Given the description of an element on the screen output the (x, y) to click on. 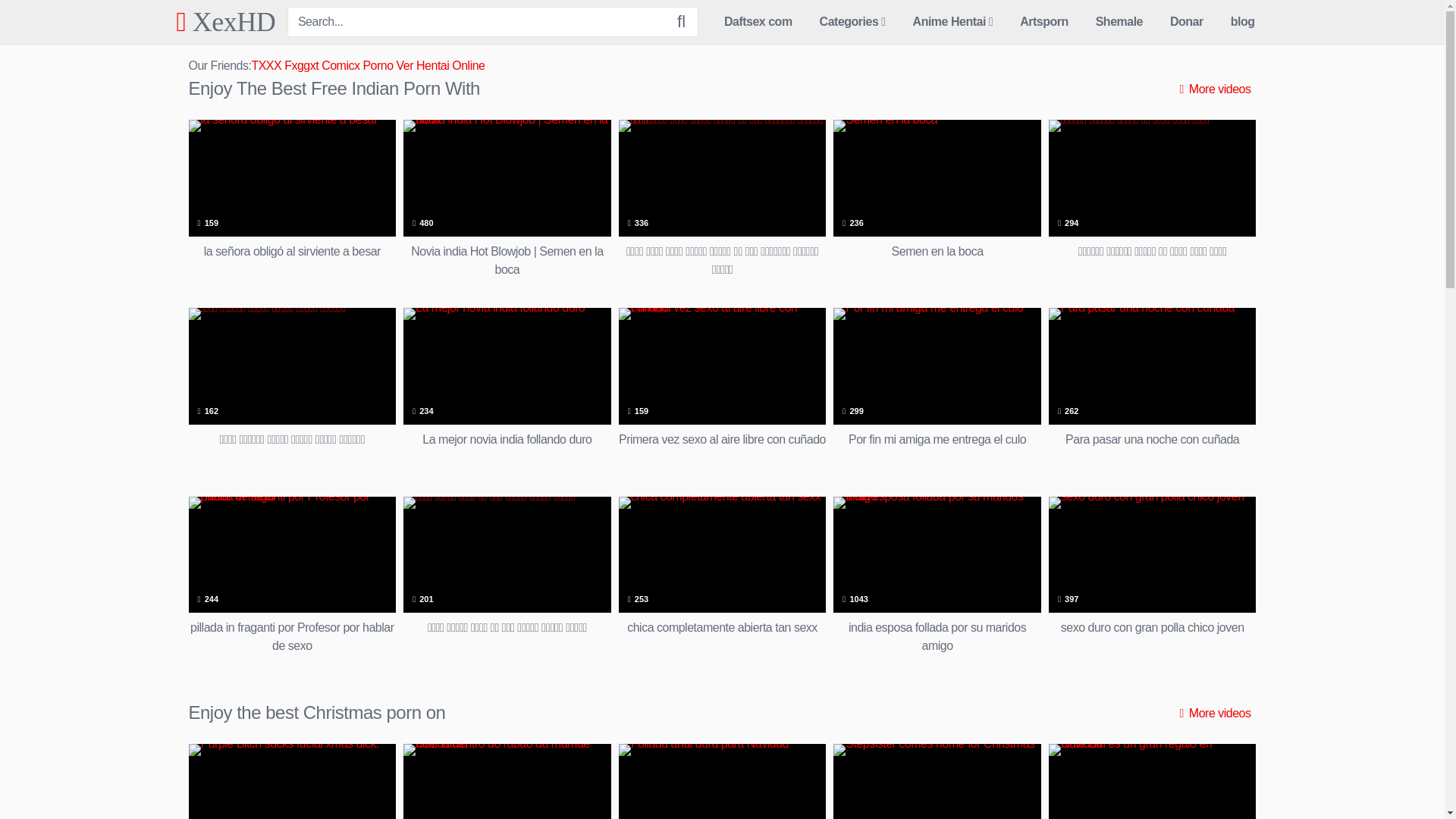
Daftsex com (758, 22)
Donar (1186, 22)
Follada anal dura para Navidad (722, 781)
Ver Hentai Online (440, 65)
chica completamente abierta tan sexx (722, 575)
More videos (1214, 89)
XexHD (225, 22)
Por fin mi amiga me entrega el culo (936, 386)
Fxggxt (300, 65)
